Given the description of an element on the screen output the (x, y) to click on. 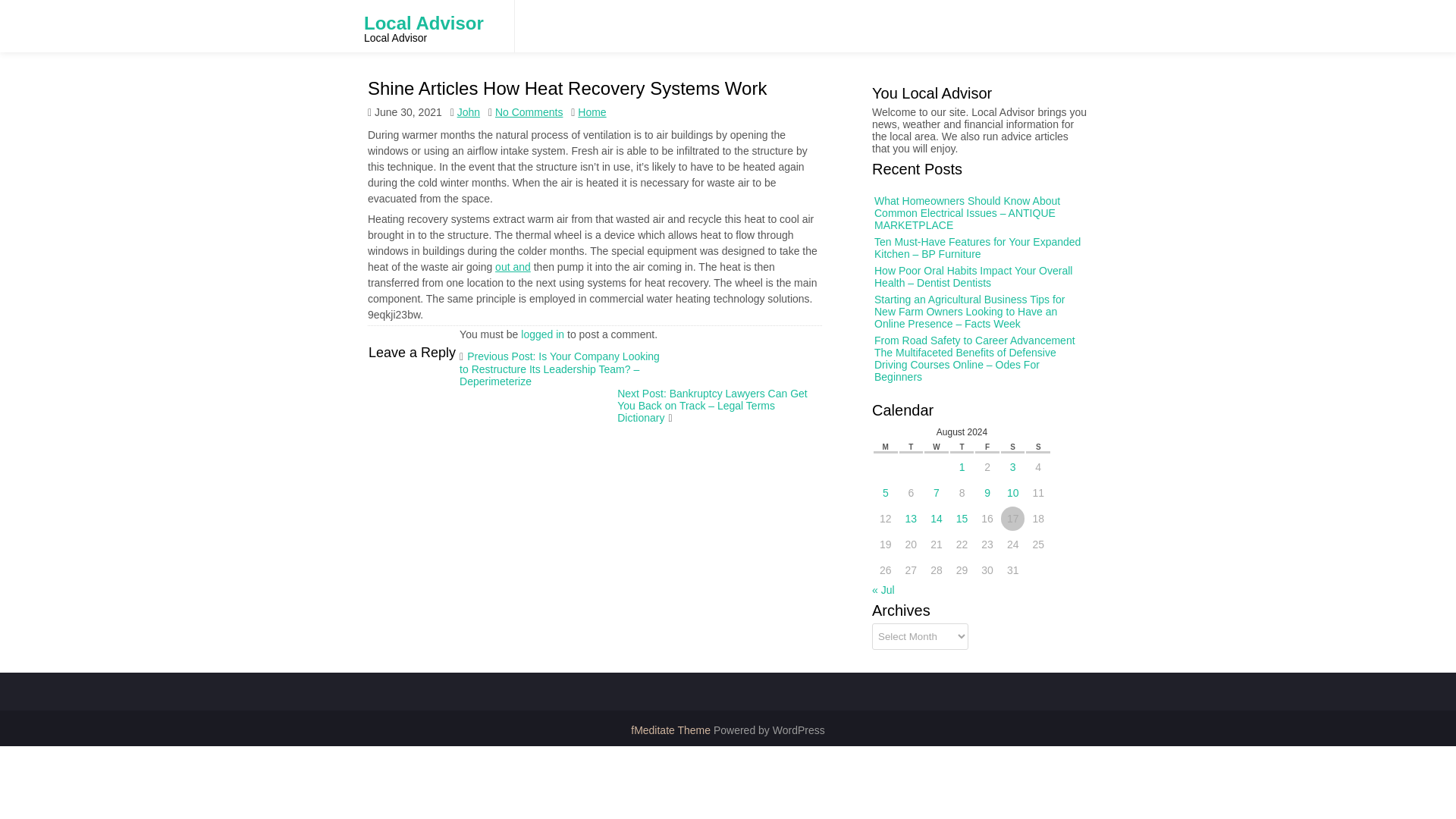
10 (1003, 452)
John (468, 111)
Wednesday (943, 437)
Thursday (965, 438)
Home (591, 111)
No Comments (528, 111)
logged in (542, 334)
15 (968, 477)
14 (951, 476)
Posts by John (468, 89)
